Given the description of an element on the screen output the (x, y) to click on. 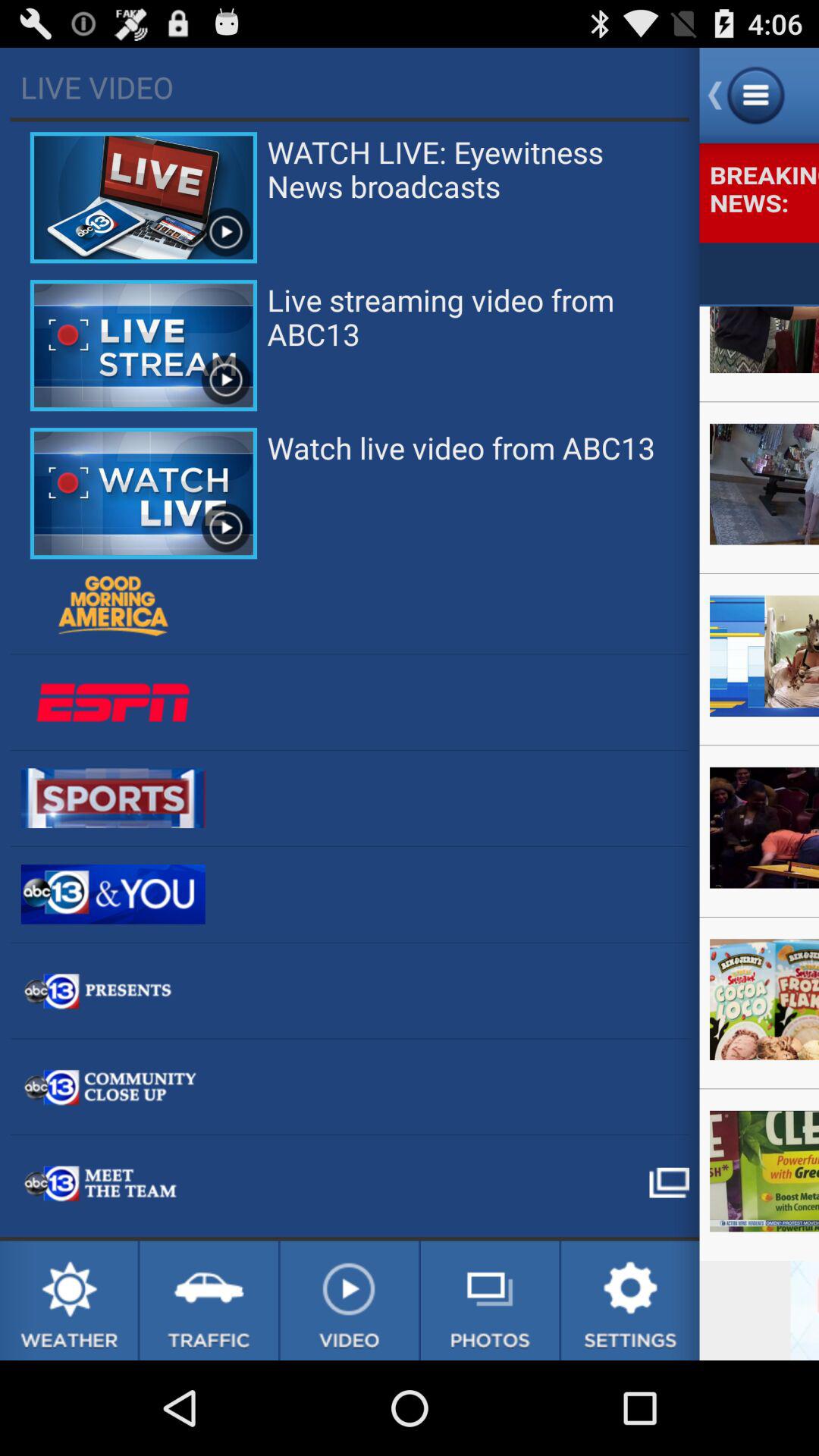
switch to weather tab (68, 1300)
